Given the description of an element on the screen output the (x, y) to click on. 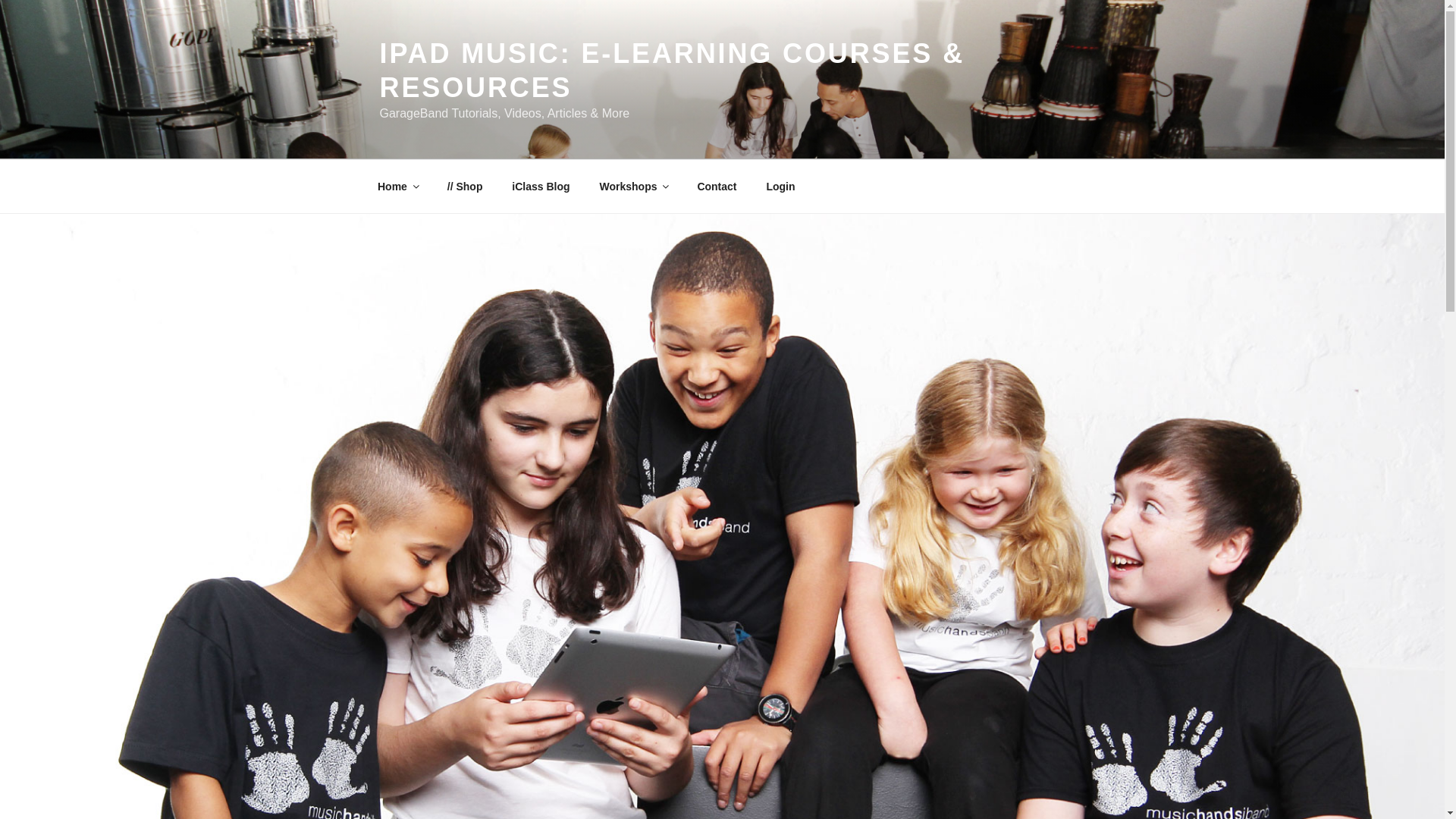
Login (780, 186)
Home (397, 186)
Workshops (633, 186)
Contact (716, 186)
iClass Blog (541, 186)
